Given the description of an element on the screen output the (x, y) to click on. 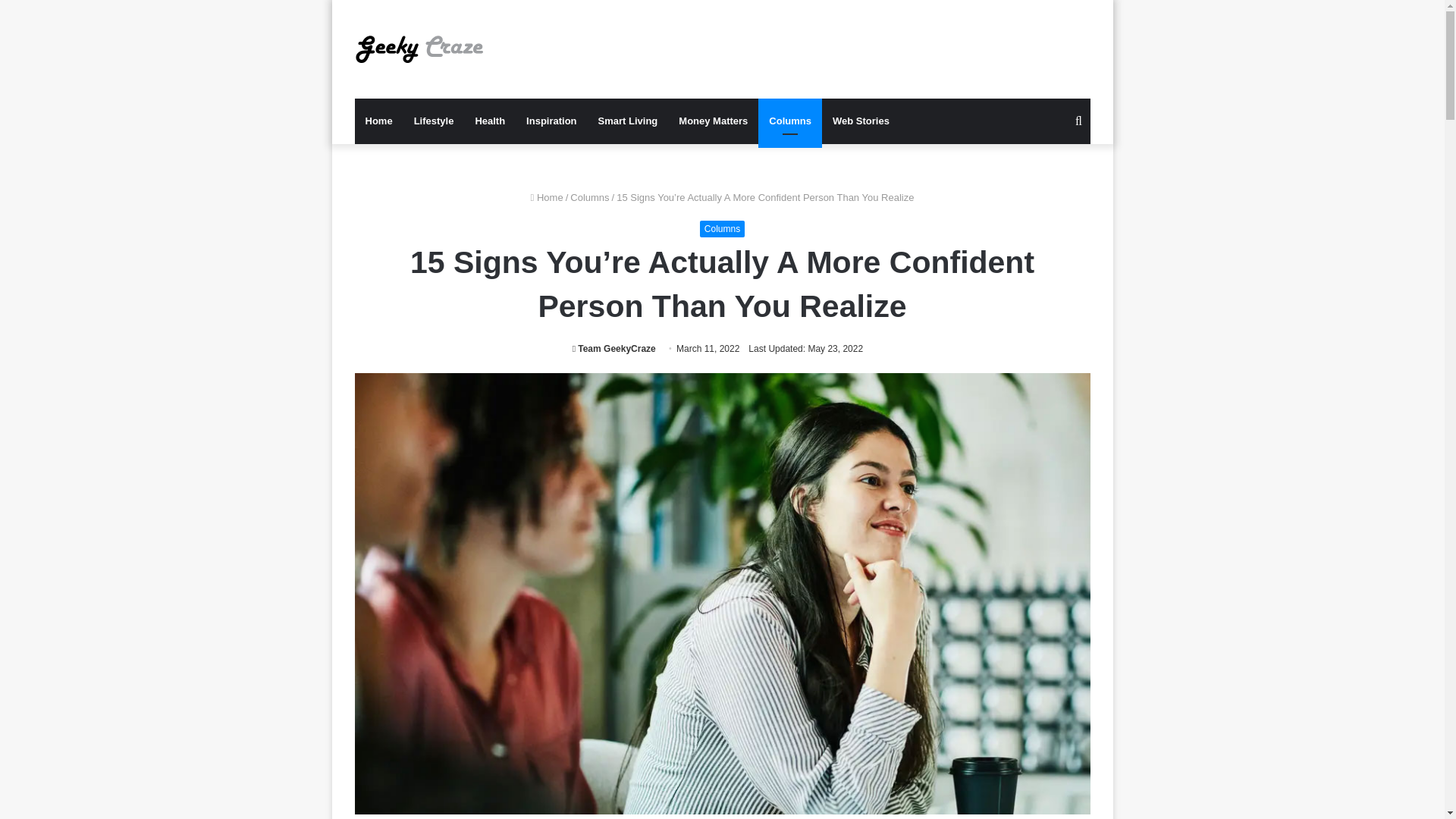
Inspiration (550, 121)
Smart Living (628, 121)
Home (379, 121)
Home (547, 197)
Columns (722, 228)
Team GeekyCraze (614, 348)
Geeky Craze (419, 48)
Web Stories (860, 121)
Team GeekyCraze (614, 348)
Columns (589, 197)
Health (489, 121)
Money Matters (713, 121)
Columns (790, 121)
Lifestyle (433, 121)
